Given the description of an element on the screen output the (x, y) to click on. 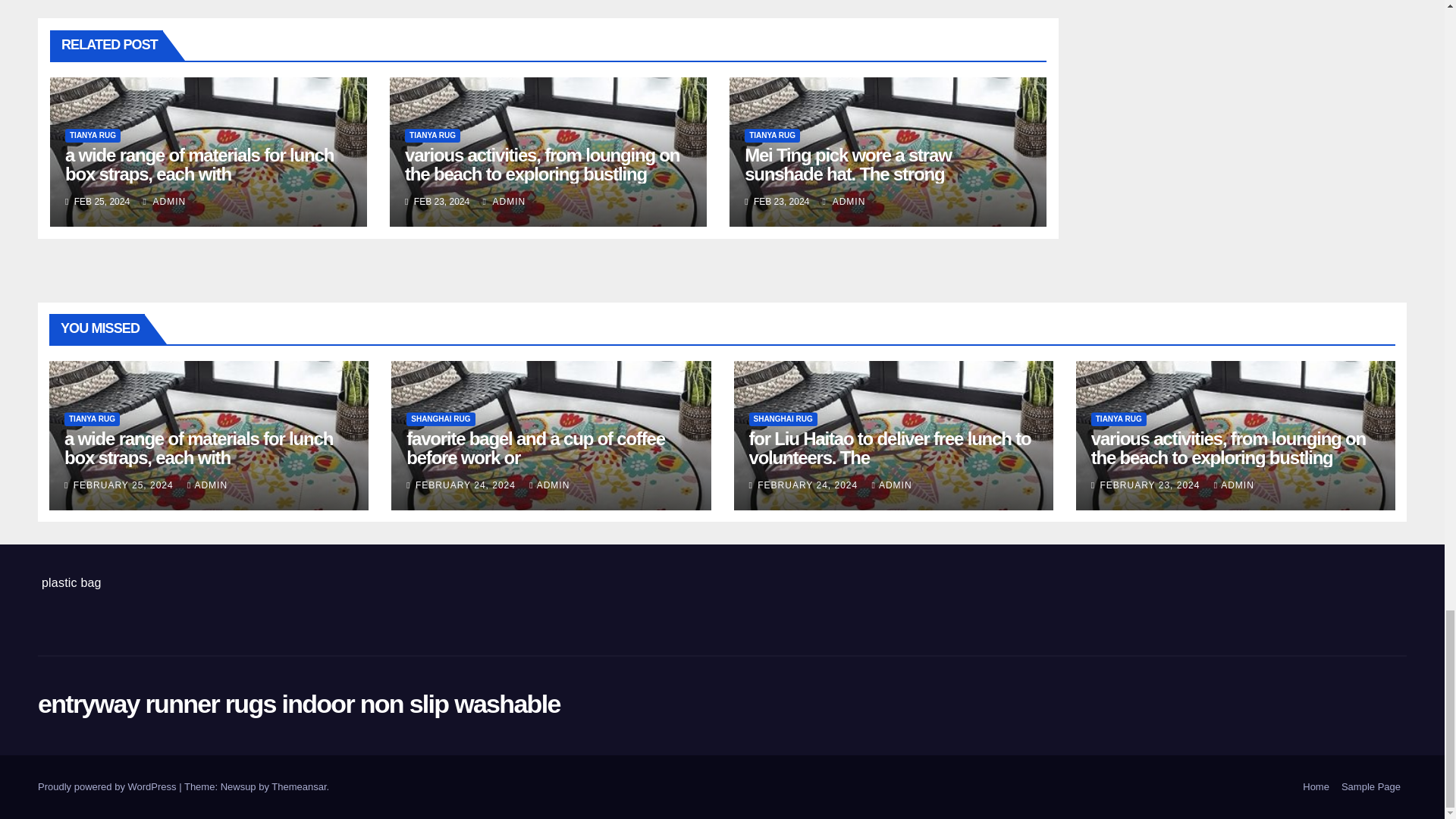
Home (1316, 786)
a wide range of materials for lunch box straps, each with (199, 164)
ADMIN (164, 201)
TIANYA RUG (432, 135)
TIANYA RUG (92, 135)
ADMIN (844, 201)
Mei Ting pick wore a straw sunshade hat. The strong (847, 164)
TIANYA RUG (771, 135)
ADMIN (504, 201)
